Given the description of an element on the screen output the (x, y) to click on. 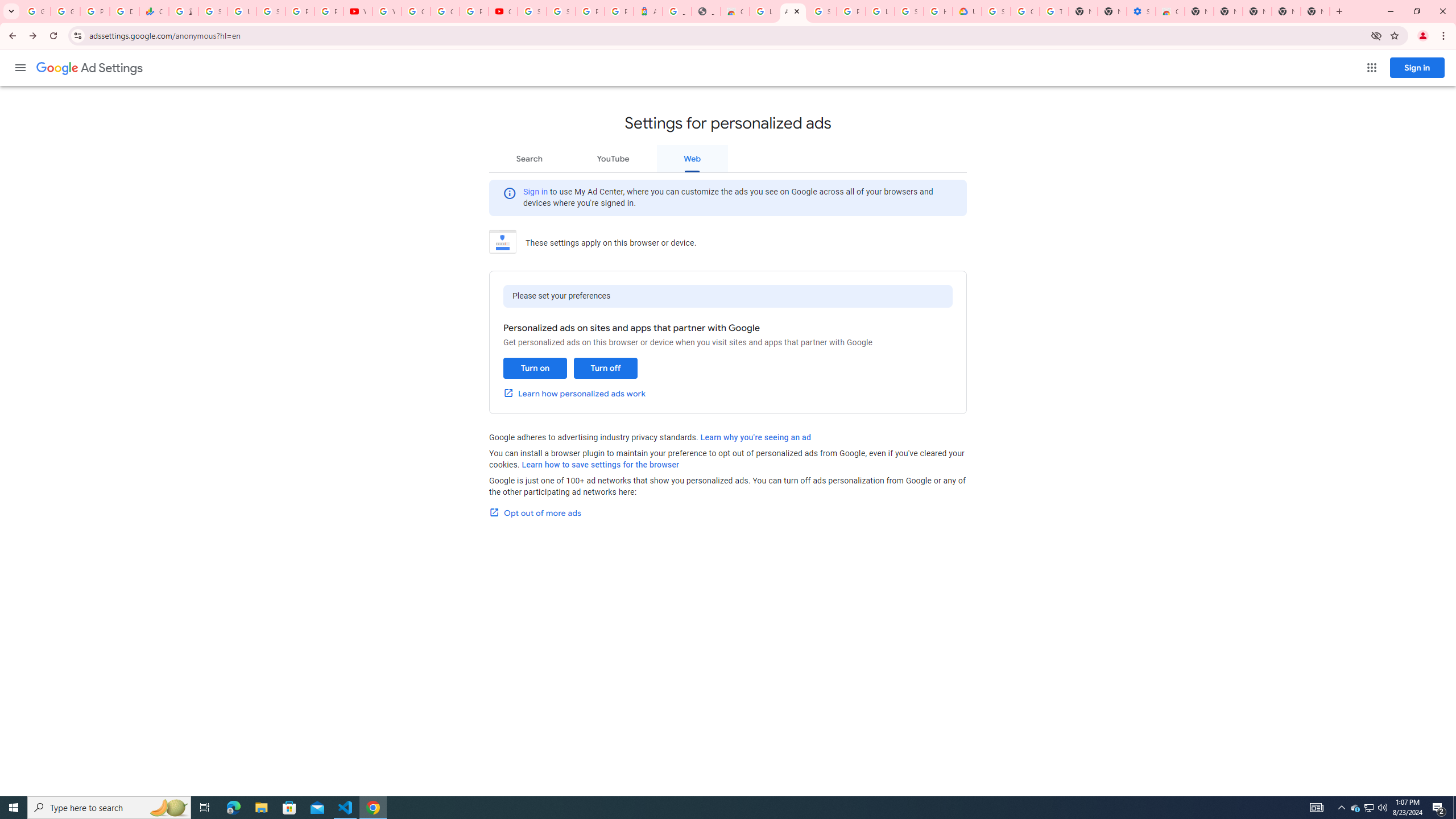
Learn how to save settings for the browser (600, 465)
Settings - Accessibility (1140, 11)
Sign in (535, 191)
Chrome Web Store - Household (734, 11)
Sign in - Google Accounts (212, 11)
Create your Google Account (444, 11)
Learn why you're seeing an ad (755, 437)
YouTube (386, 11)
Third-party cookies blocked (1376, 35)
